Given the description of an element on the screen output the (x, y) to click on. 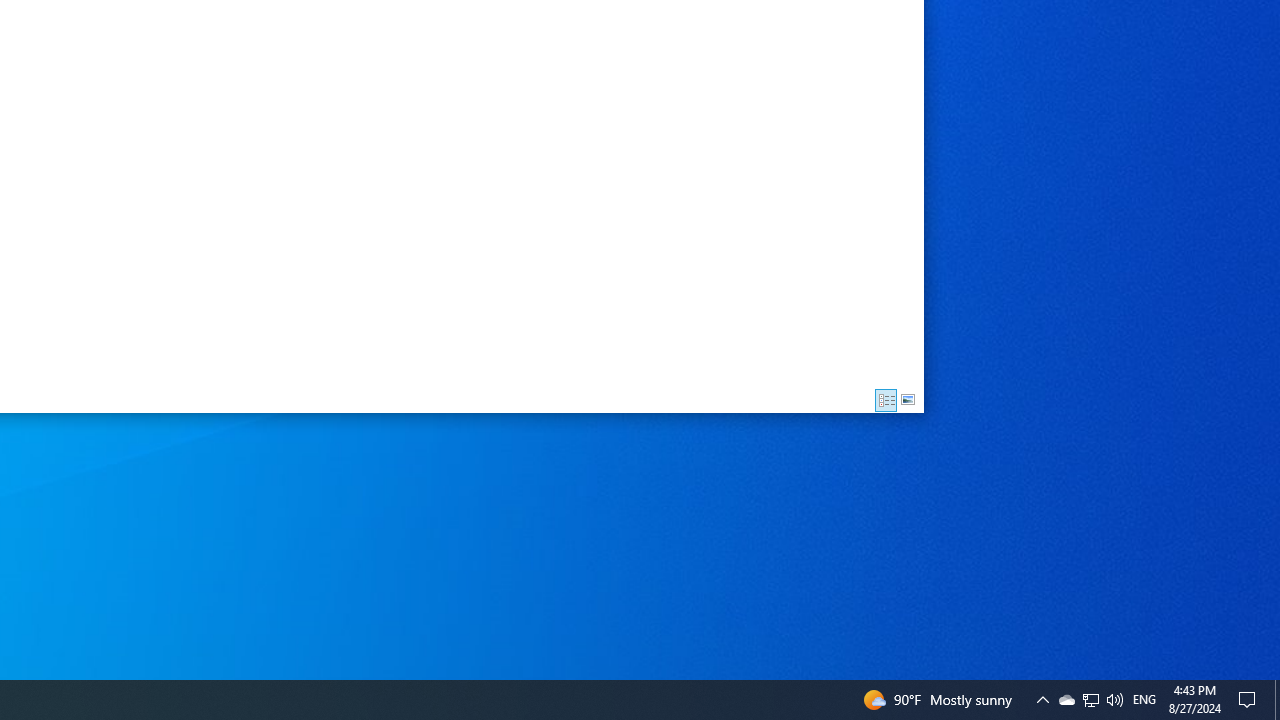
Large Icons (908, 399)
Details (886, 399)
